Given the description of an element on the screen output the (x, y) to click on. 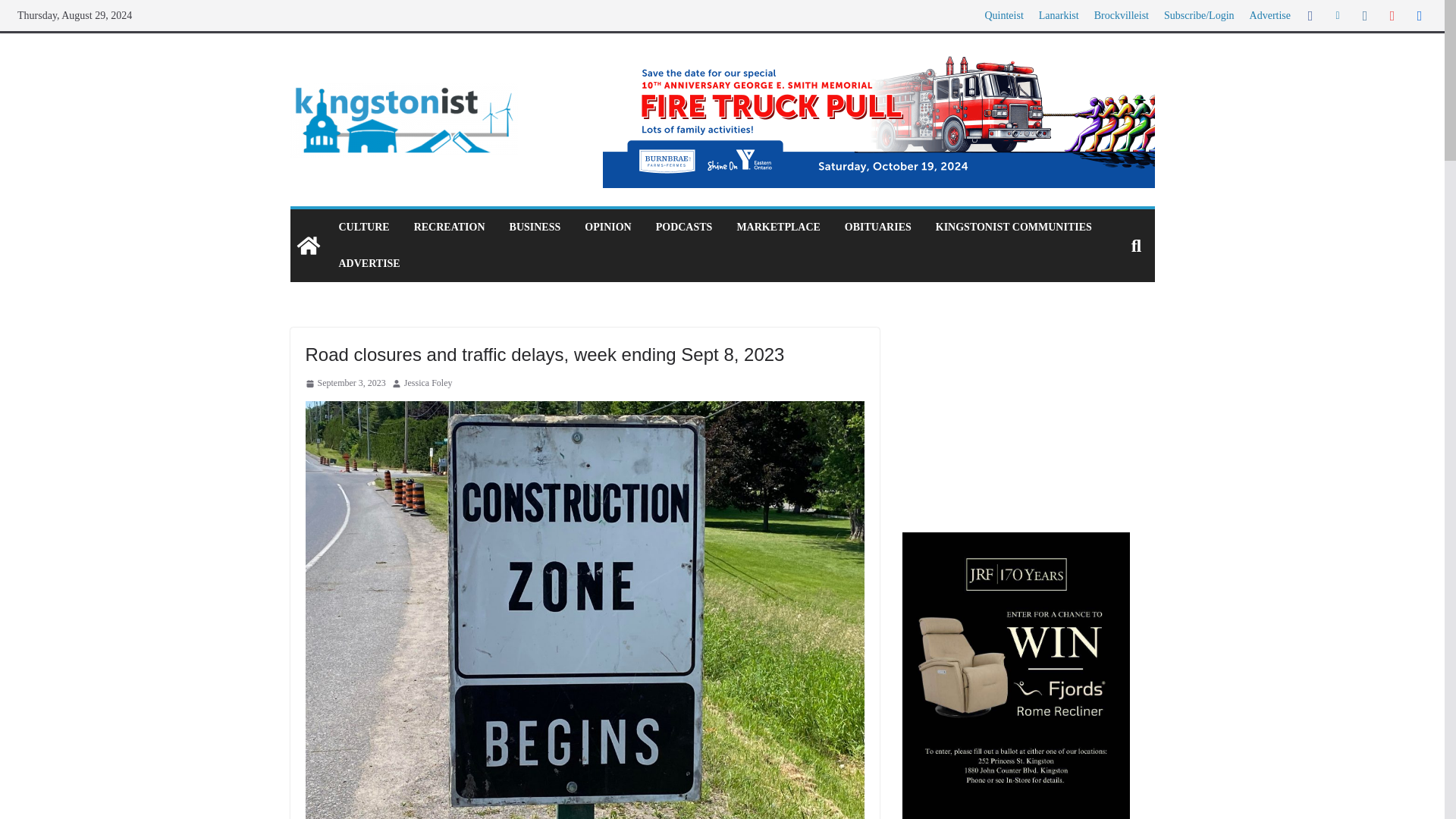
Jessica Foley (428, 383)
September 3, 2023 (344, 383)
OPINION (607, 227)
Jessica Foley (428, 383)
KINGSTONIST COMMUNITIES (1014, 227)
ADVERTISE (367, 263)
RECREATION (448, 227)
OBITUARIES (877, 227)
MARKETPLACE (777, 227)
Lanarkist (1058, 15)
